Given the description of an element on the screen output the (x, y) to click on. 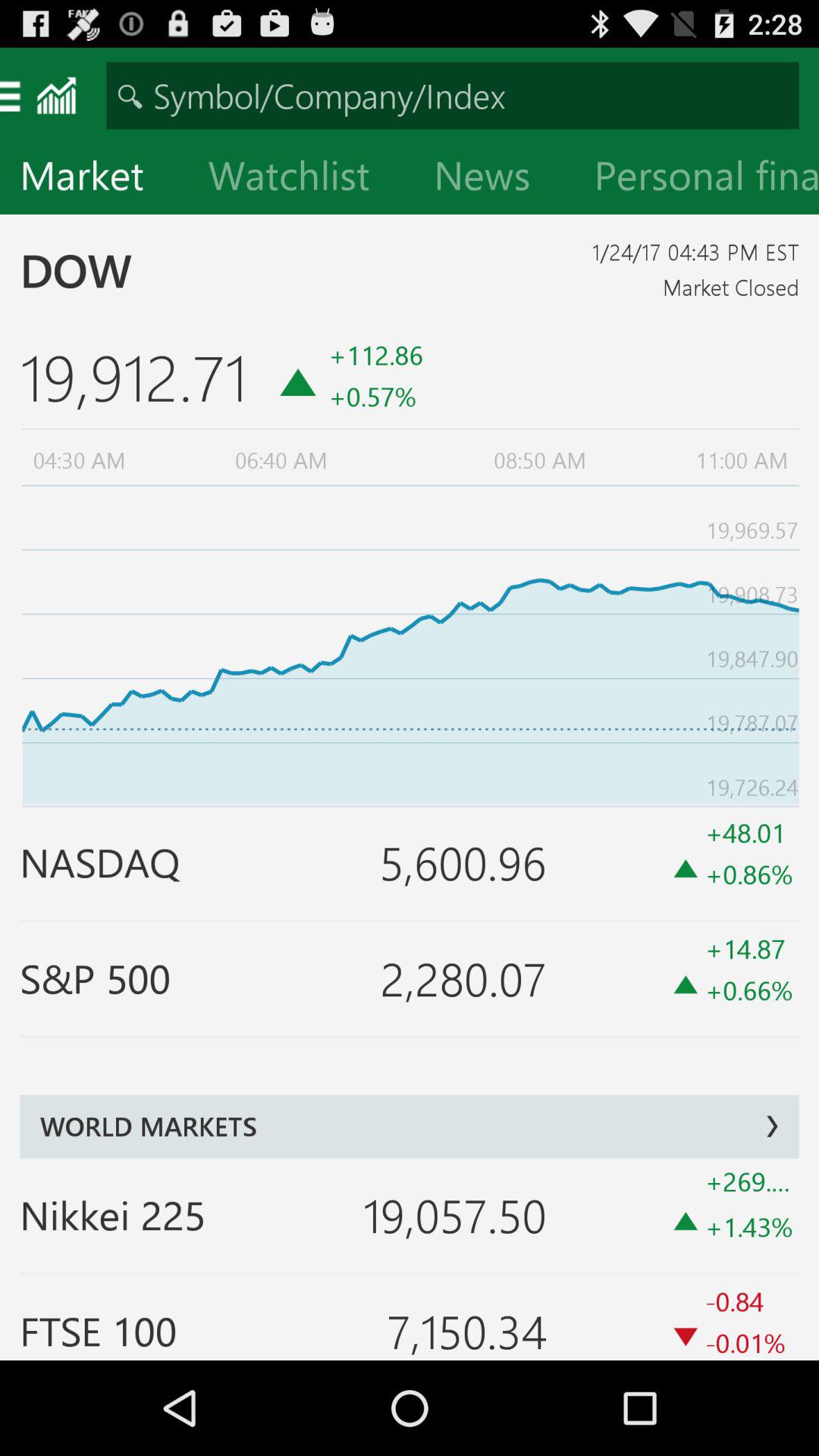
choose the personal finance item (696, 178)
